Given the description of an element on the screen output the (x, y) to click on. 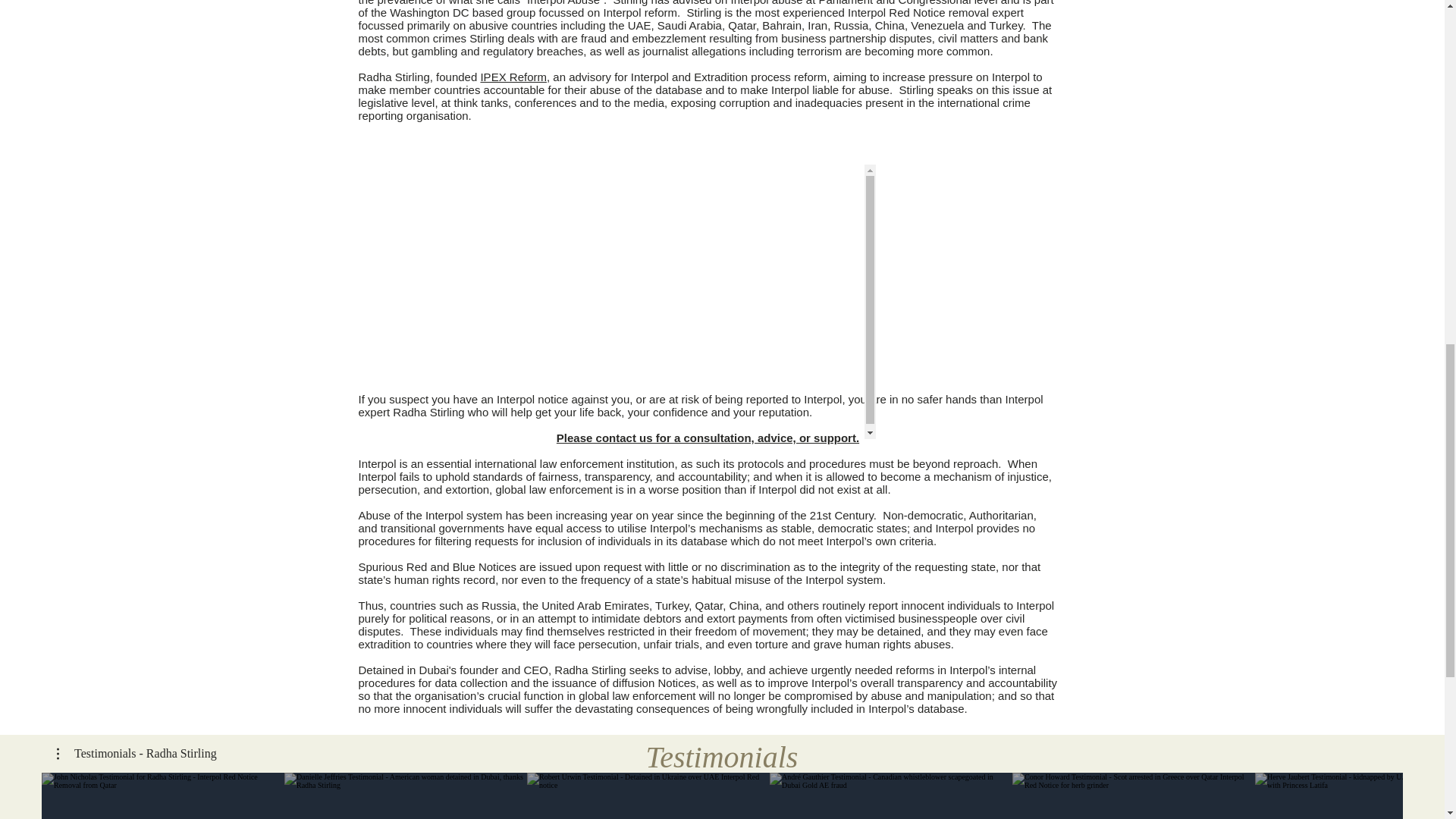
IPEX Reform (513, 76)
Embedded Content (708, 301)
Please contact us for a consultation, advice, or support. (707, 437)
